Given the description of an element on the screen output the (x, y) to click on. 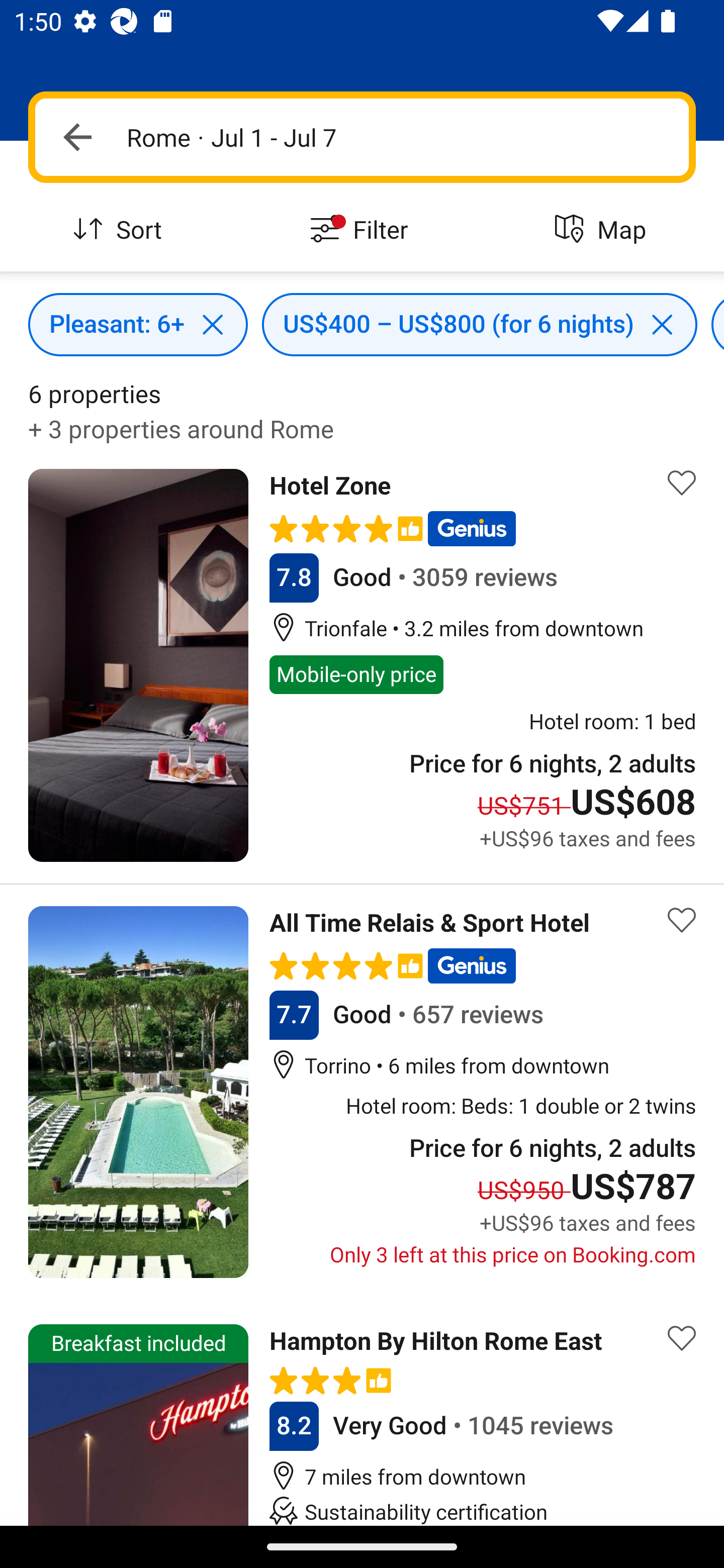
Navigate up Rome · Jul 1 - Jul 7 (362, 136)
Navigate up (77, 136)
Sort (120, 230)
Filter (361, 230)
Map (603, 230)
Save property to list (681, 482)
Save property to list (681, 920)
Save property to list (681, 1337)
